Given the description of an element on the screen output the (x, y) to click on. 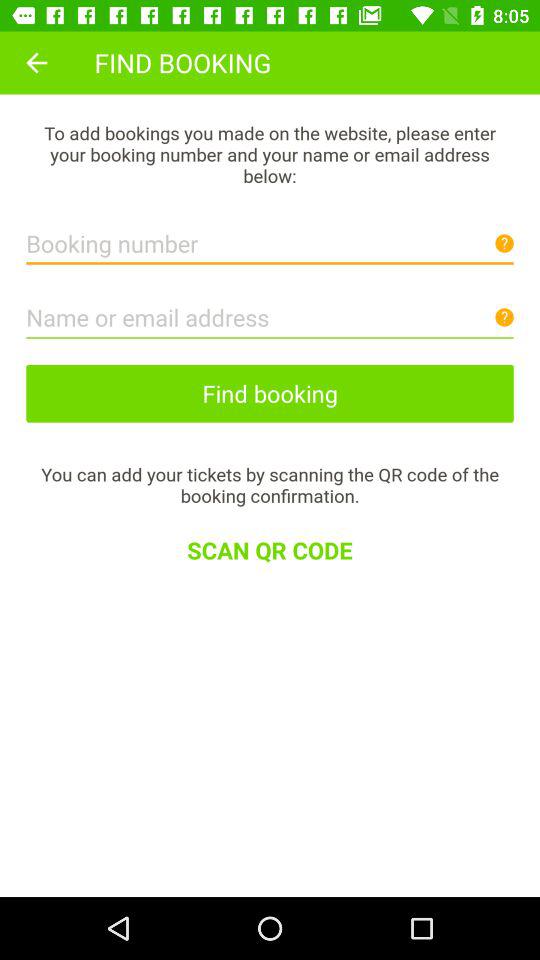
enter booking number (269, 238)
